Given the description of an element on the screen output the (x, y) to click on. 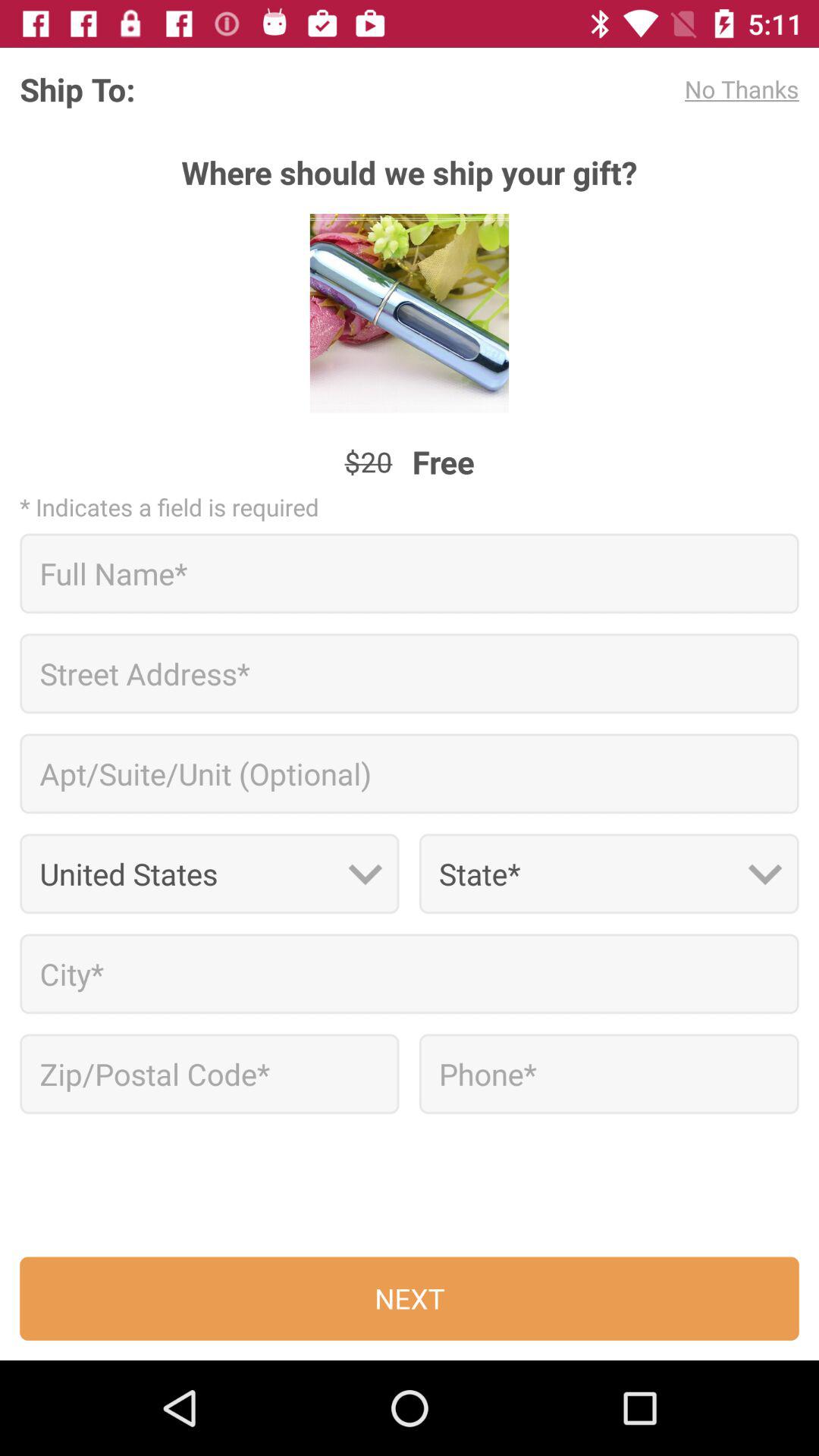
application form the article (609, 1073)
